Given the description of an element on the screen output the (x, y) to click on. 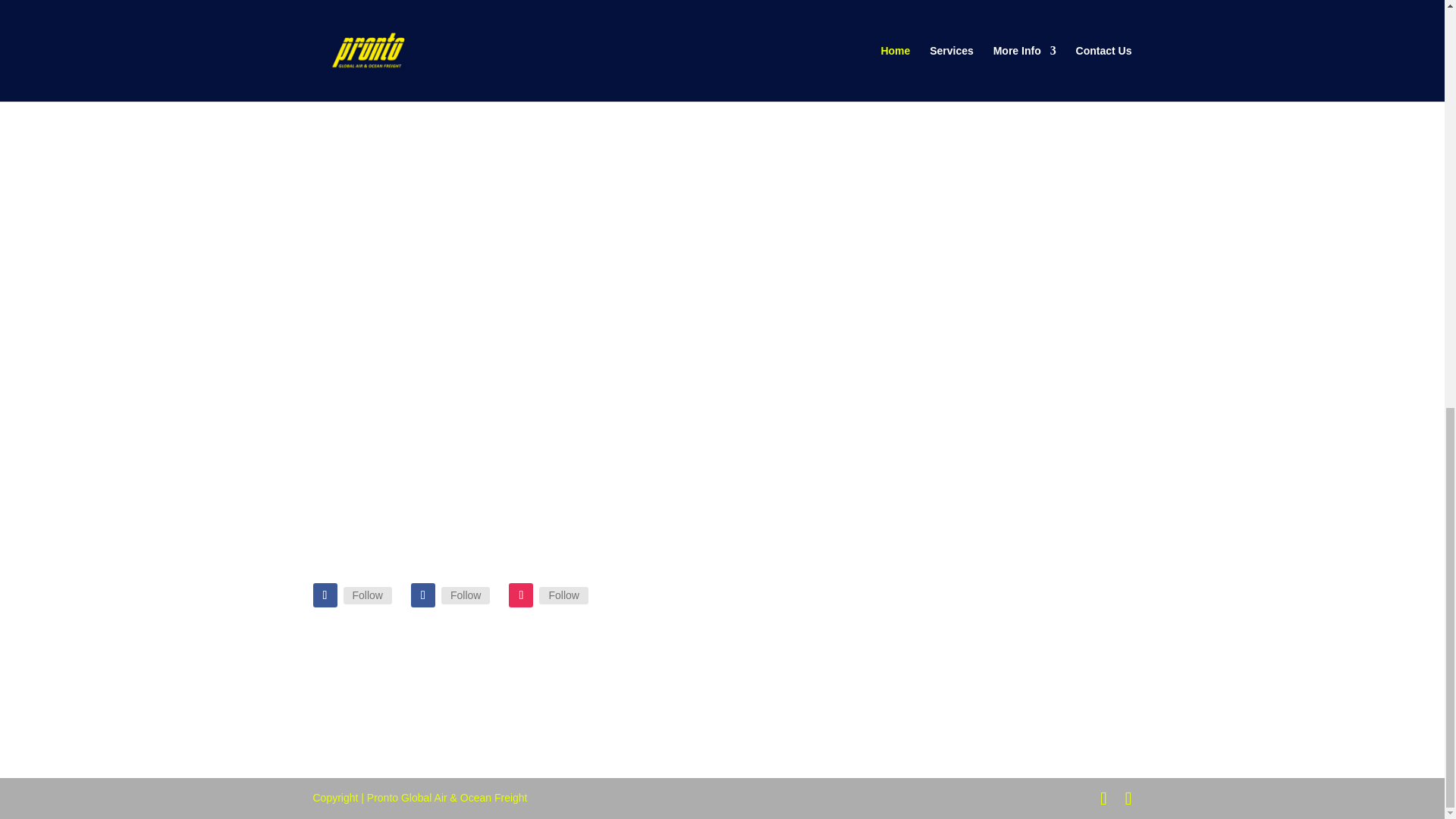
Follow (366, 595)
Facebook (366, 595)
Follow (465, 595)
Follow on Facebook (324, 595)
Follow on Instagram (520, 595)
Instagram (563, 595)
Follow (563, 595)
Facebook (465, 595)
Follow on Facebook (422, 595)
